Given the description of an element on the screen output the (x, y) to click on. 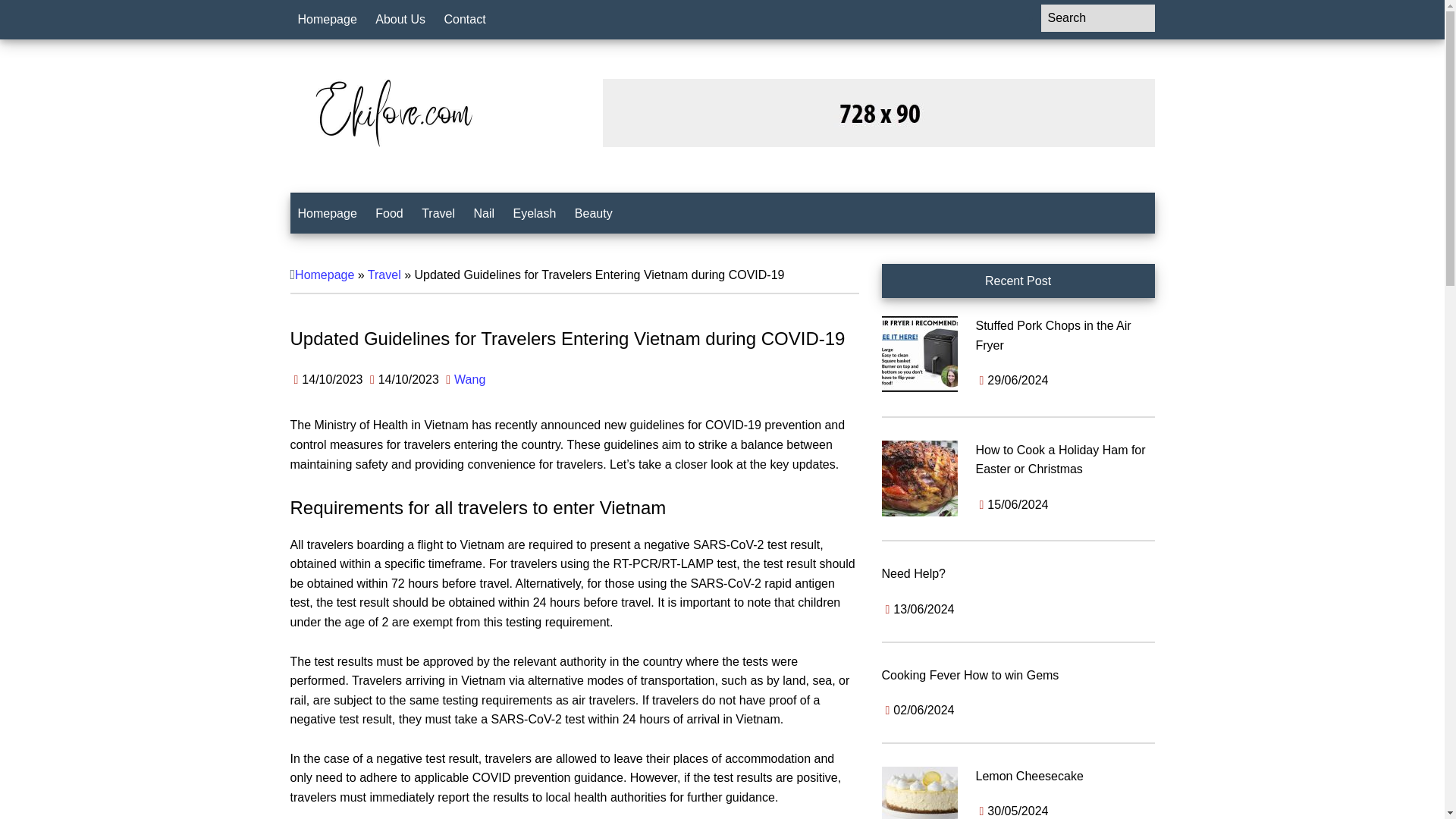
Homepage (326, 213)
Need Help? (912, 573)
Nail (483, 213)
Cooking Fever How to win Gems (969, 675)
How to Cook a Holiday Ham for Easter or Christmas (1059, 459)
Stuffed Pork Chops in the Air Fryer (1053, 335)
Beauty (593, 213)
Contact (464, 19)
Travel (384, 274)
Homepage (326, 19)
Food (389, 213)
Eyelash (534, 213)
Wang (469, 379)
Ekilove (392, 112)
About Us (400, 19)
